Given the description of an element on the screen output the (x, y) to click on. 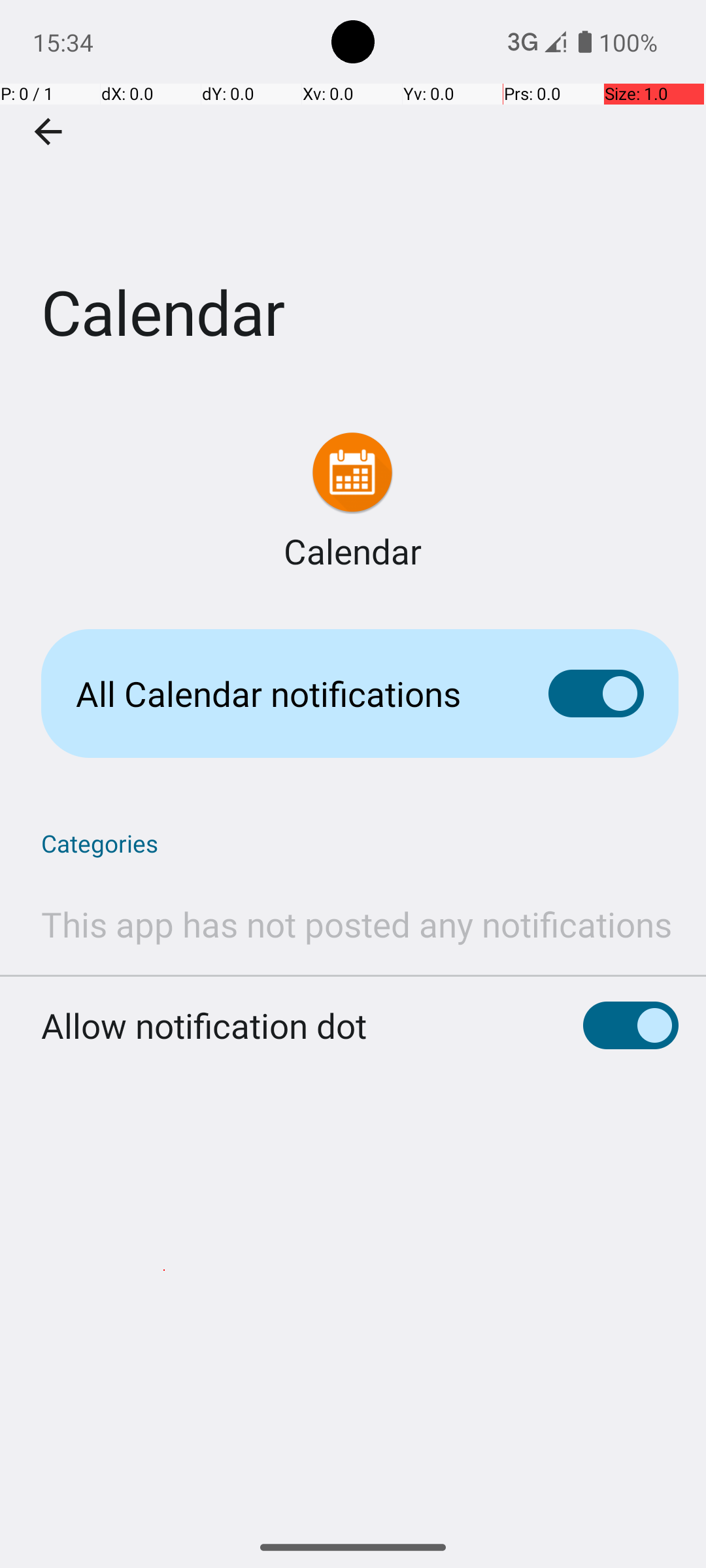
All Calendar notifications Element type: android.widget.TextView (291, 693)
This app has not posted any notifications Element type: android.widget.TextView (356, 923)
Allow notification dot Element type: android.widget.TextView (203, 1025)
